Given the description of an element on the screen output the (x, y) to click on. 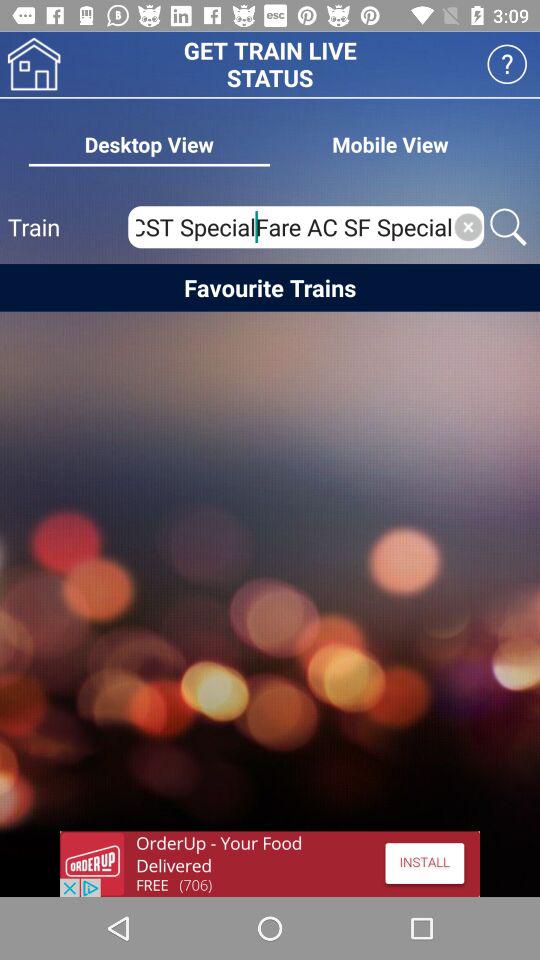
click button (506, 64)
